Given the description of an element on the screen output the (x, y) to click on. 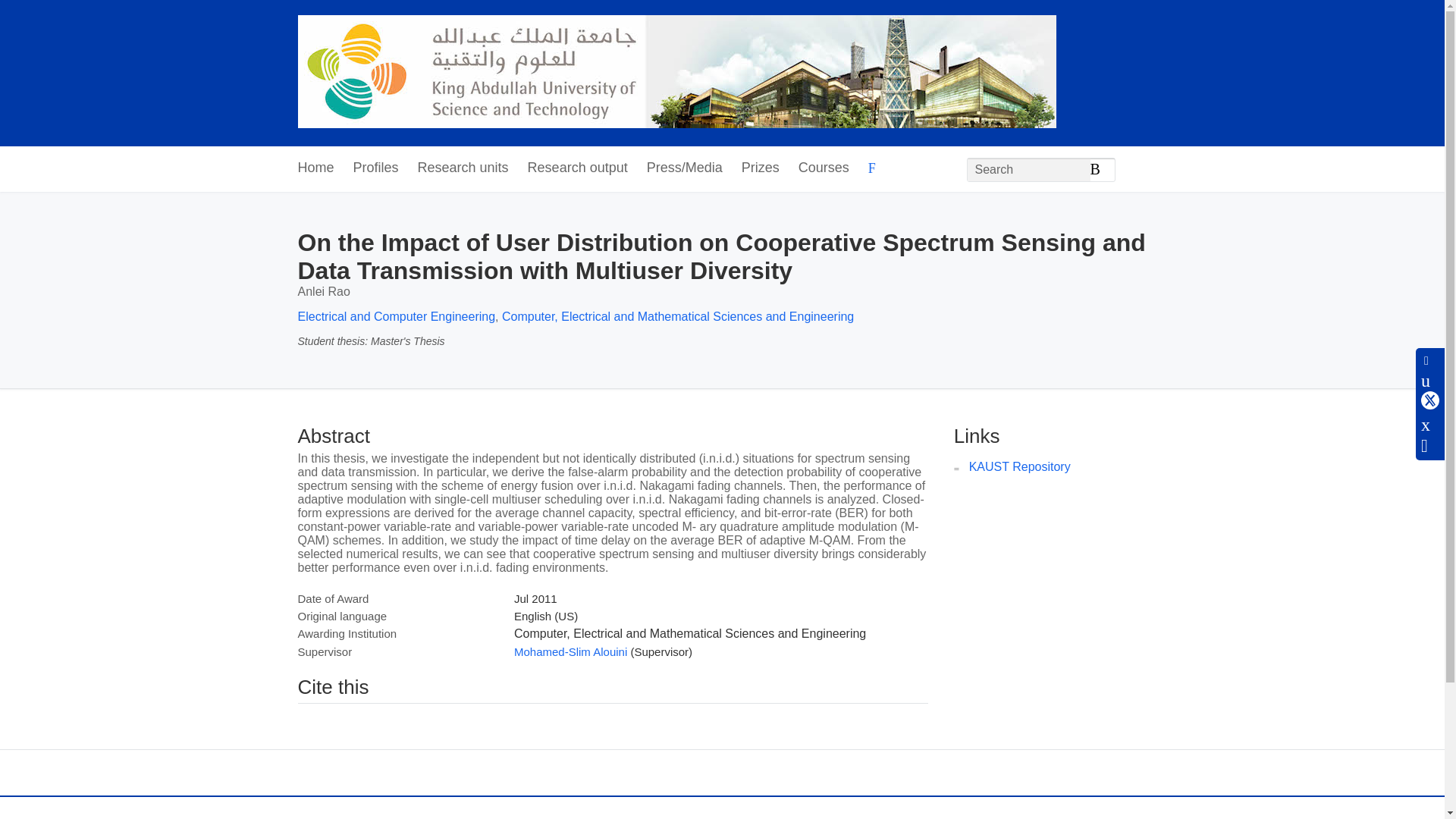
Research units (462, 168)
KAUST Repository (1019, 466)
Research output (577, 168)
Electrical and Computer Engineering (396, 316)
Mohamed-Slim Alouini (570, 651)
Courses (822, 168)
KAUST PORTAL FOR RESEARCHERS AND STUDENTS Home (676, 73)
Profiles (375, 168)
